Given the description of an element on the screen output the (x, y) to click on. 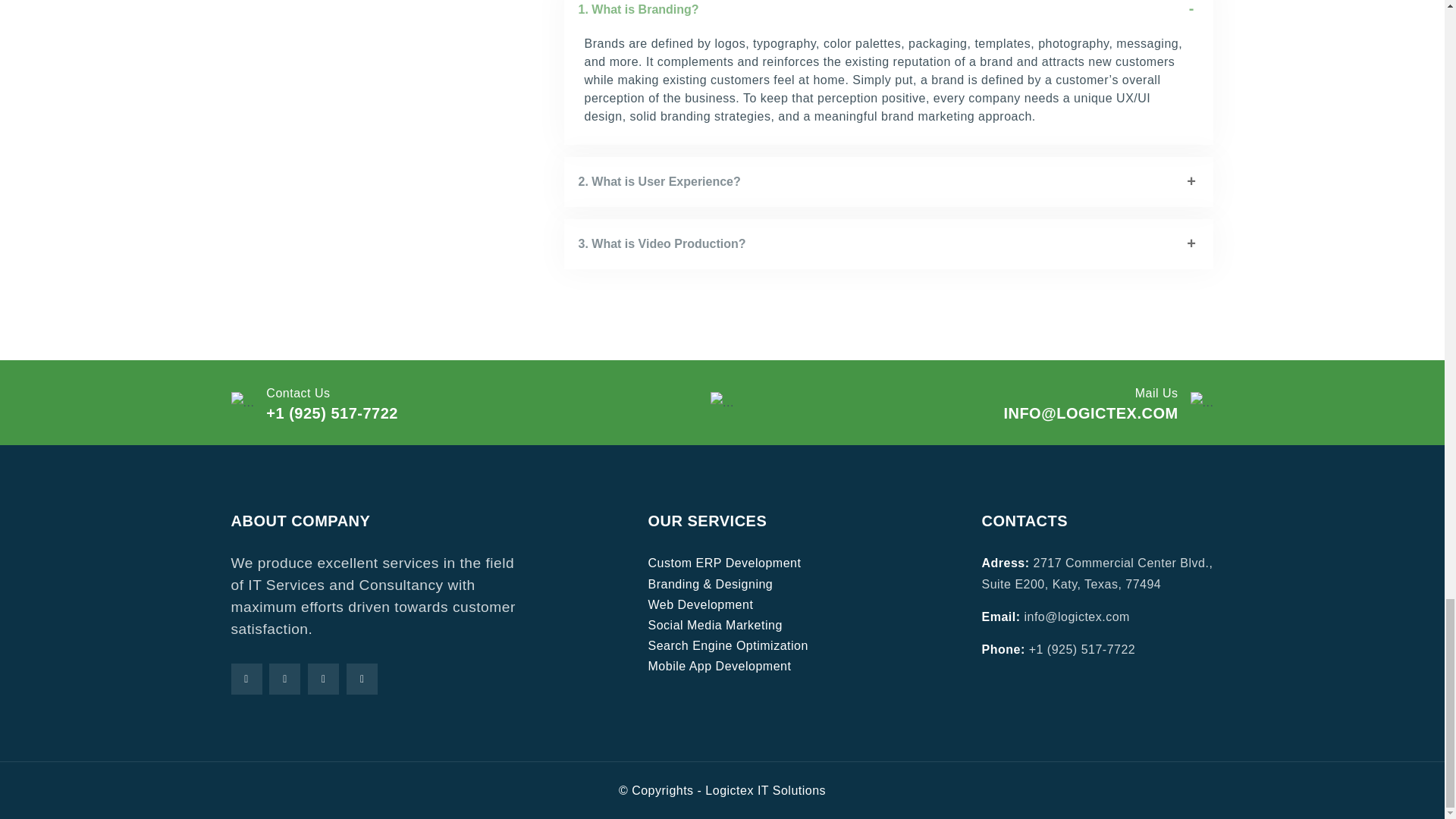
3. What is Video Production? (888, 244)
1. What is Branding? (888, 17)
2. What is User Experience? (888, 182)
